Given the description of an element on the screen output the (x, y) to click on. 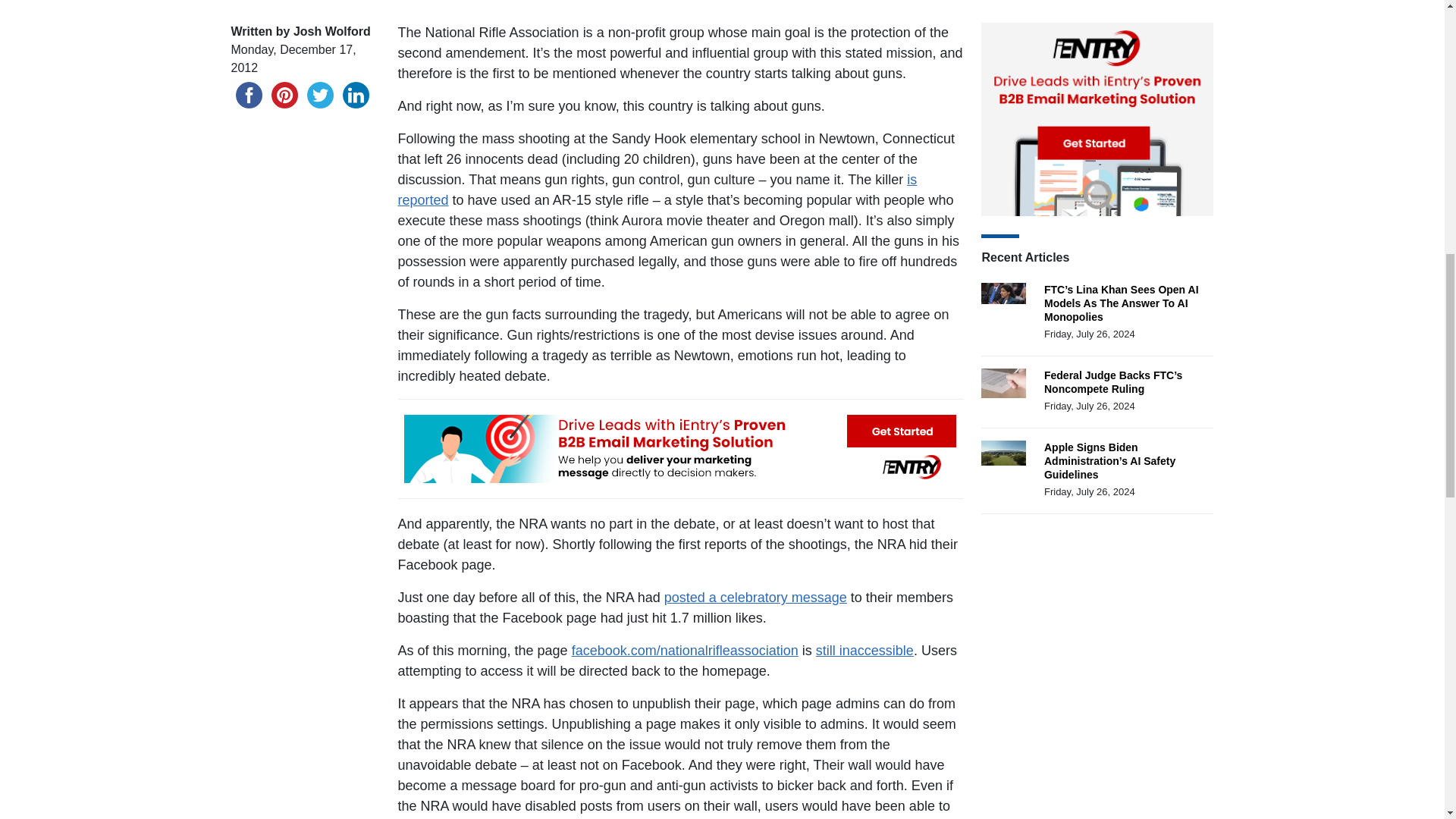
linkedin (355, 94)
facebook (248, 94)
twitter (319, 94)
pinterest (284, 94)
